Given the description of an element on the screen output the (x, y) to click on. 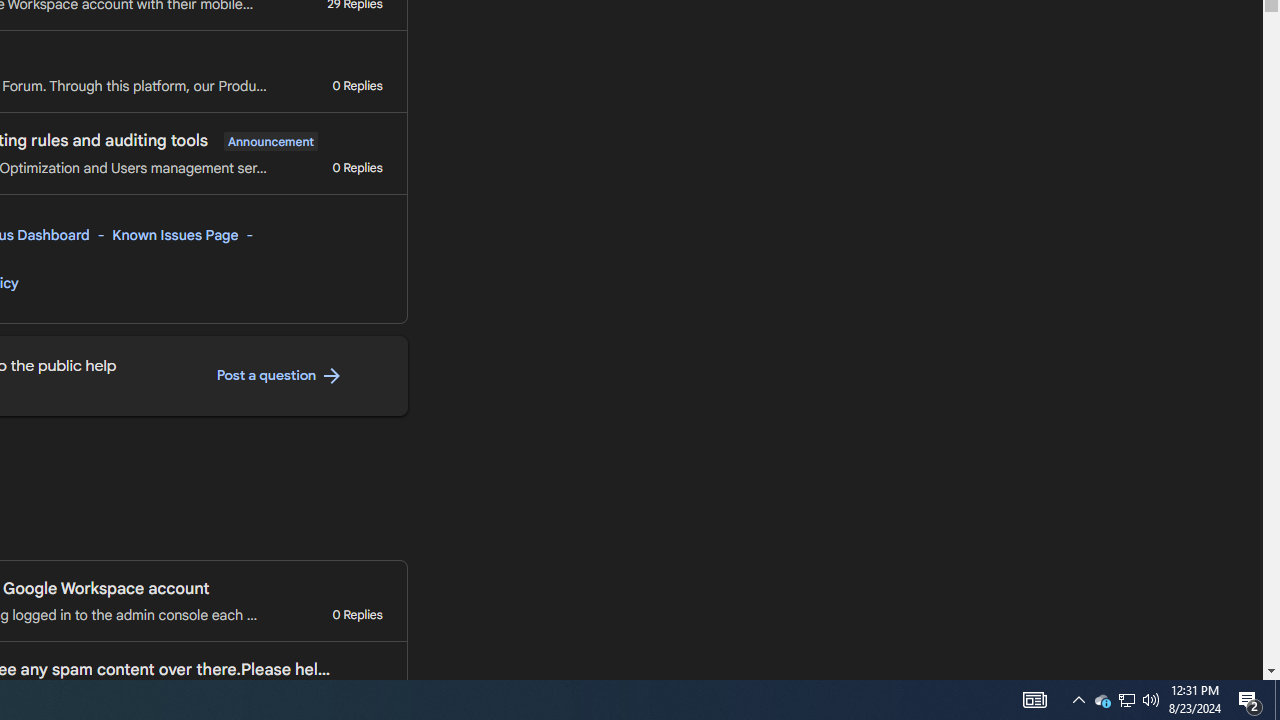
Known Issues Page (175, 235)
Post a question  (280, 376)
